Given the description of an element on the screen output the (x, y) to click on. 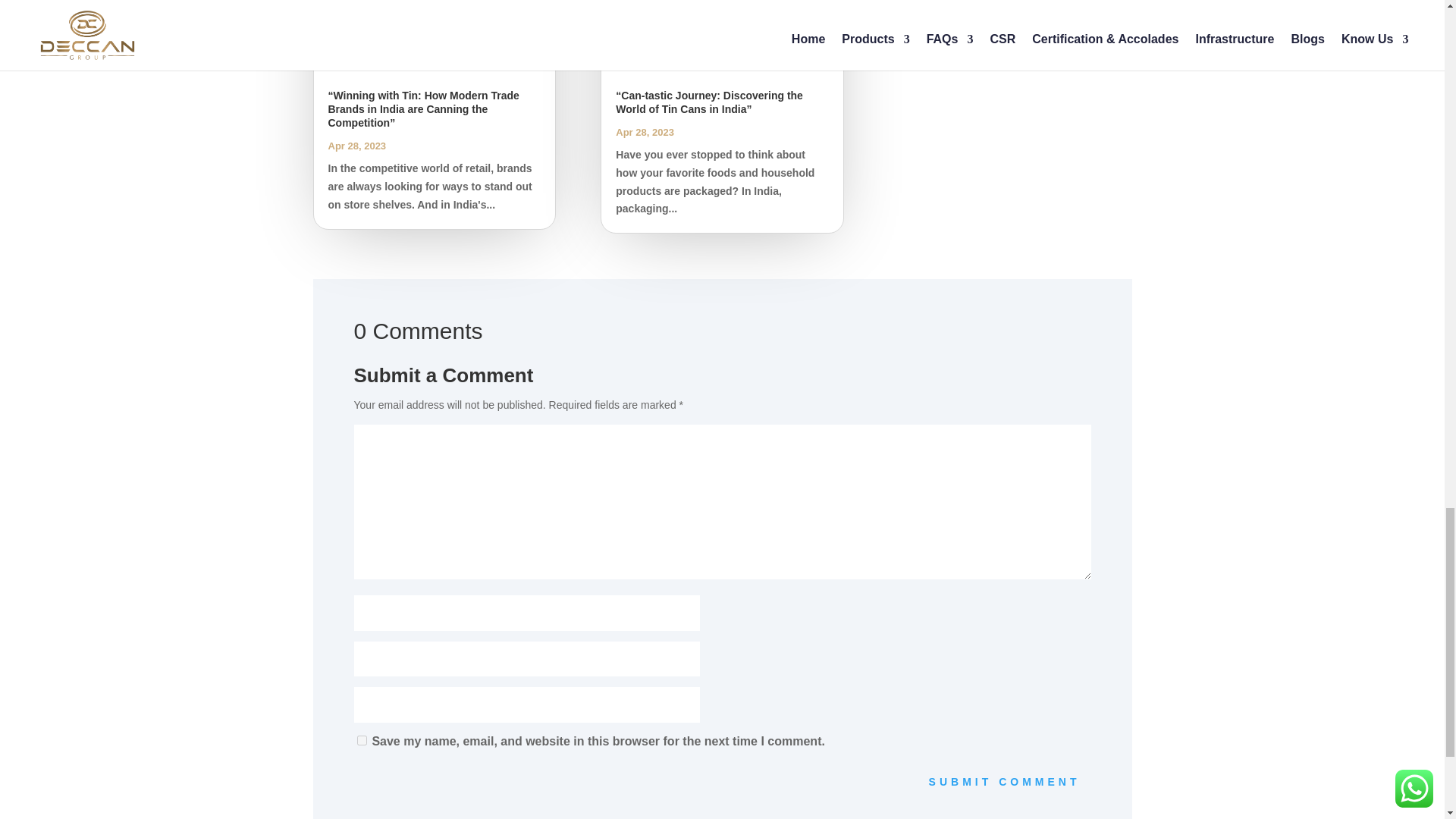
yes (361, 740)
